Given the description of an element on the screen output the (x, y) to click on. 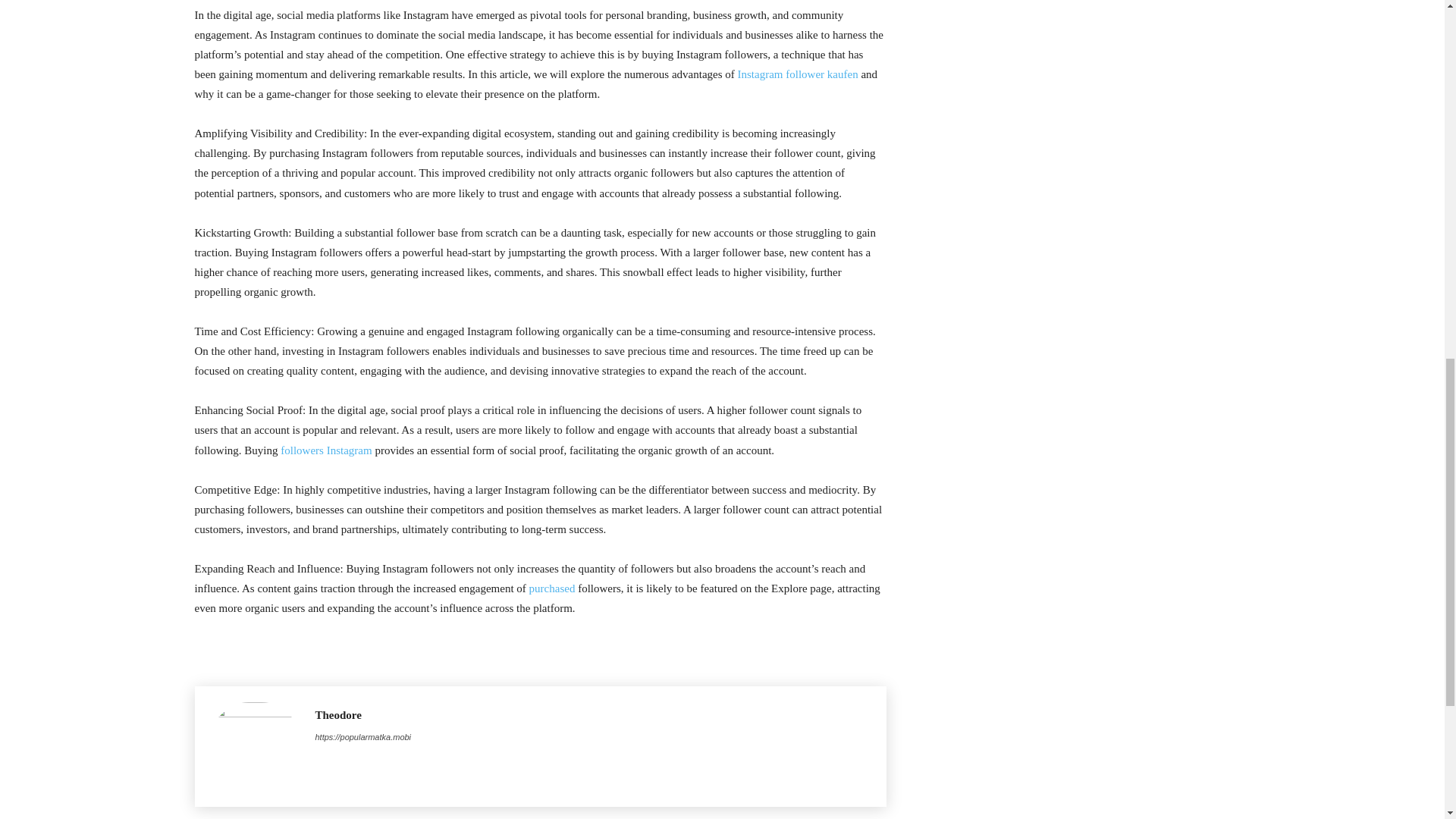
Theodore (363, 715)
Instagram follower kaufen (798, 73)
followers Instagram (326, 450)
Theodore (255, 746)
purchased (552, 588)
